Given the description of an element on the screen output the (x, y) to click on. 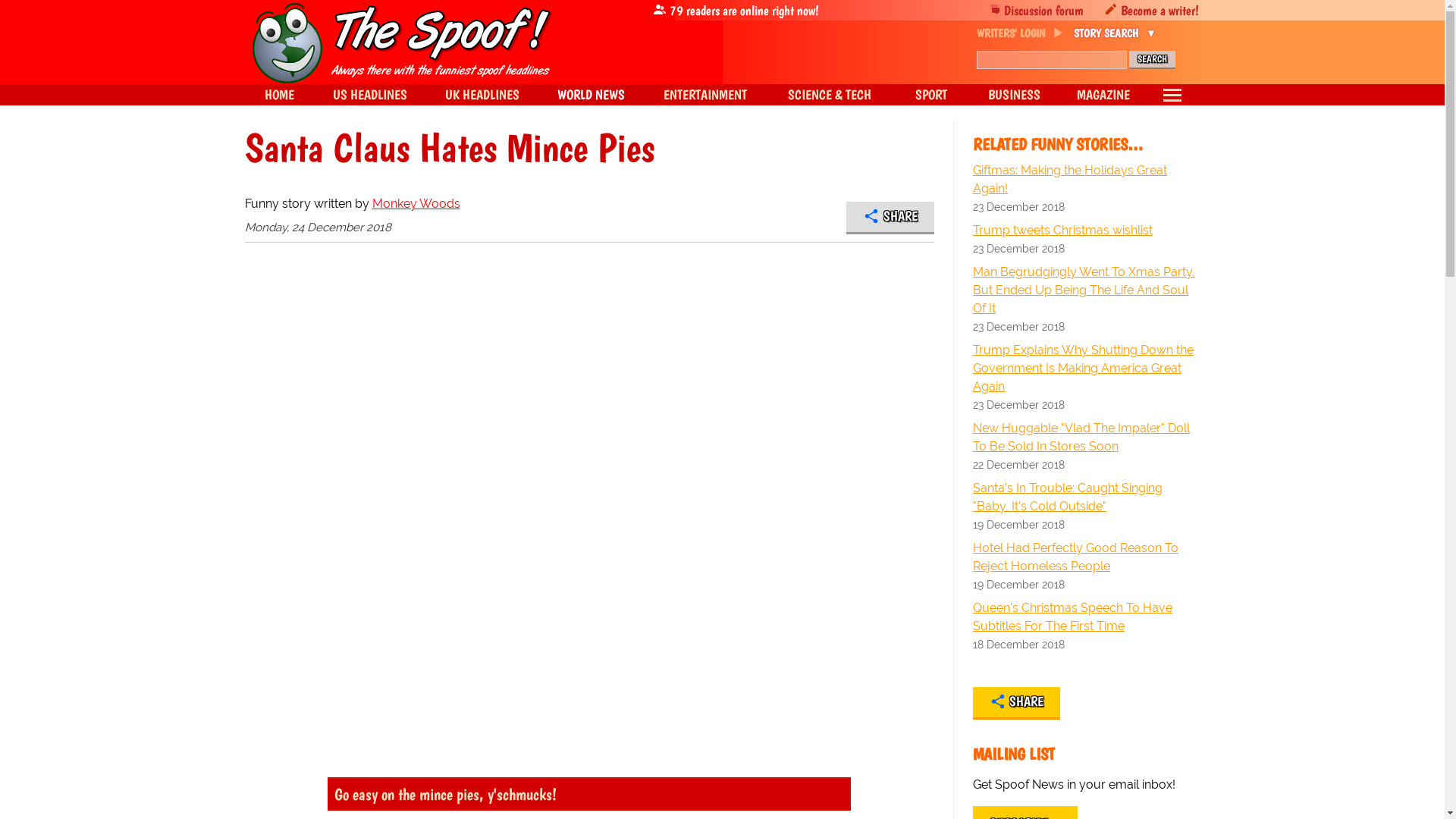
Spoof News US Headlines (370, 94)
Search (1151, 59)
SHARE (1016, 703)
Monkey Woods (415, 203)
Spoof News Sport Headlines (930, 94)
SHARE (889, 217)
Spoof News Magazine (1102, 94)
Spoof News Business Brief (1014, 94)
Trump tweets Christmas wishlist (1085, 230)
Spoof News World News (590, 94)
Satire headlines (278, 94)
Spoof News UK Headlines (482, 94)
